Given the description of an element on the screen output the (x, y) to click on. 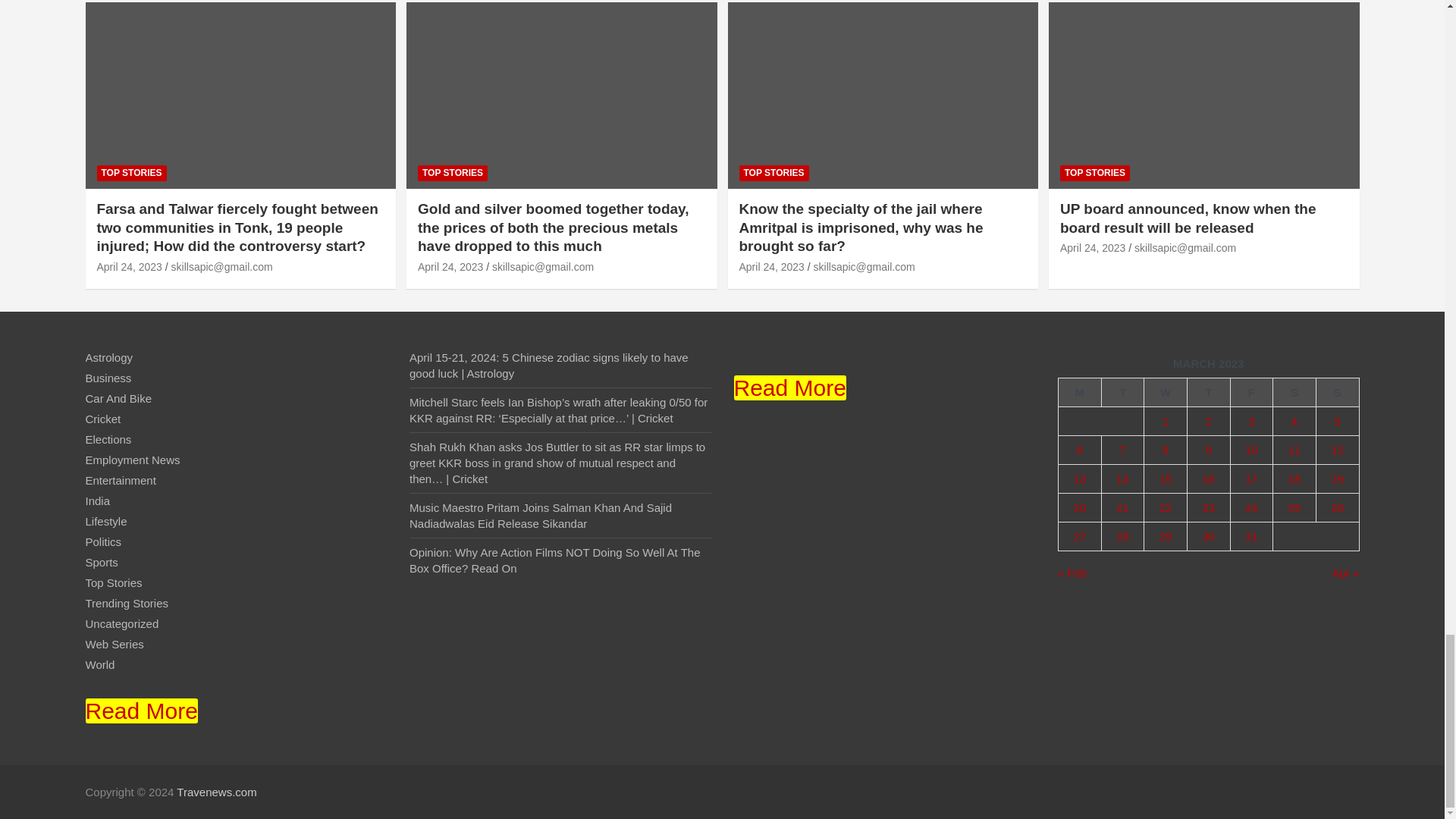
Wednesday (1166, 391)
Monday (1080, 391)
Friday (1251, 391)
Travenews.com (216, 791)
Thursday (1208, 391)
Tuesday (1122, 391)
Saturday (1294, 391)
